Given the description of an element on the screen output the (x, y) to click on. 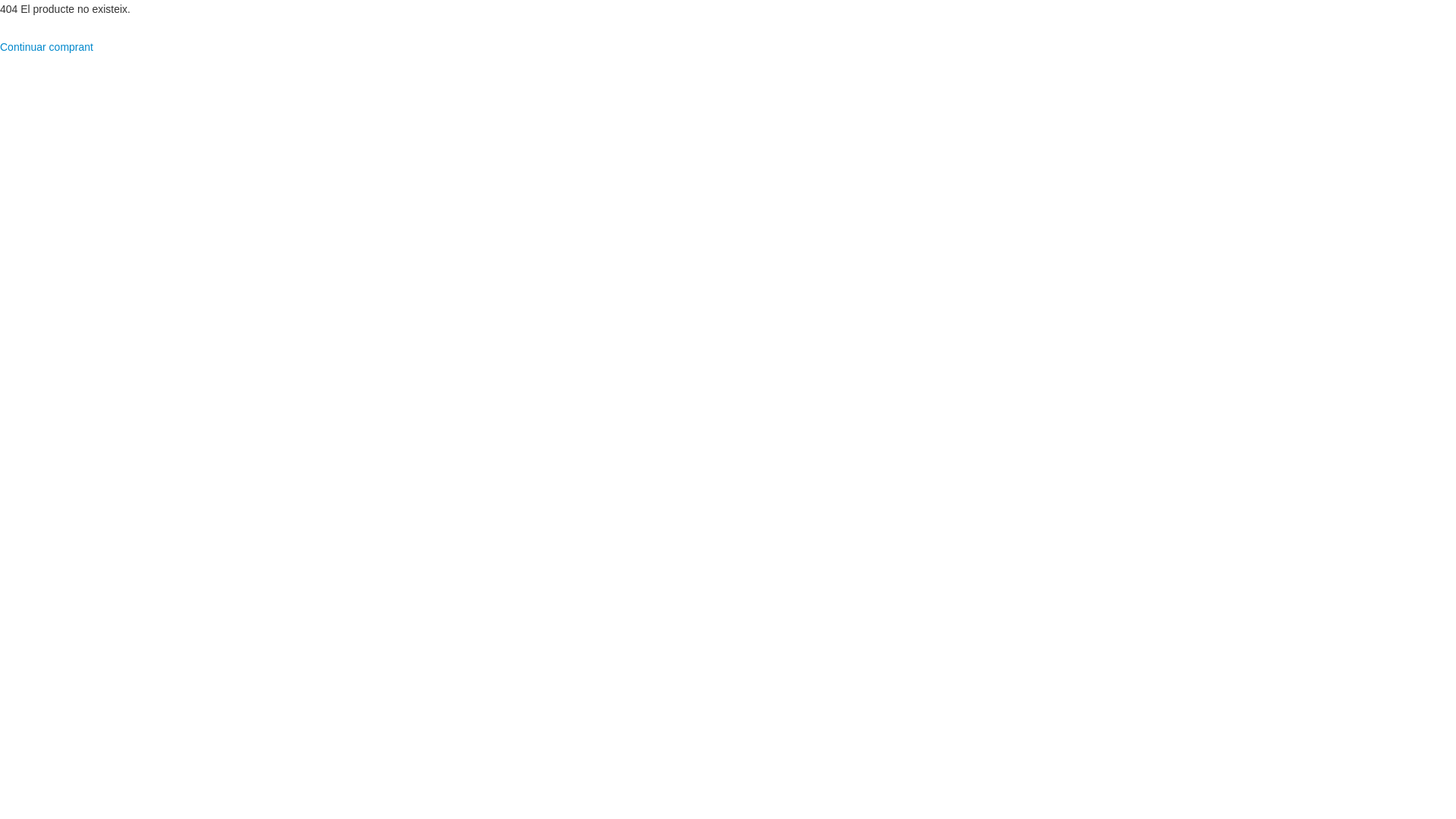
Continuar comprant Element type: text (46, 46)
